Given the description of an element on the screen output the (x, y) to click on. 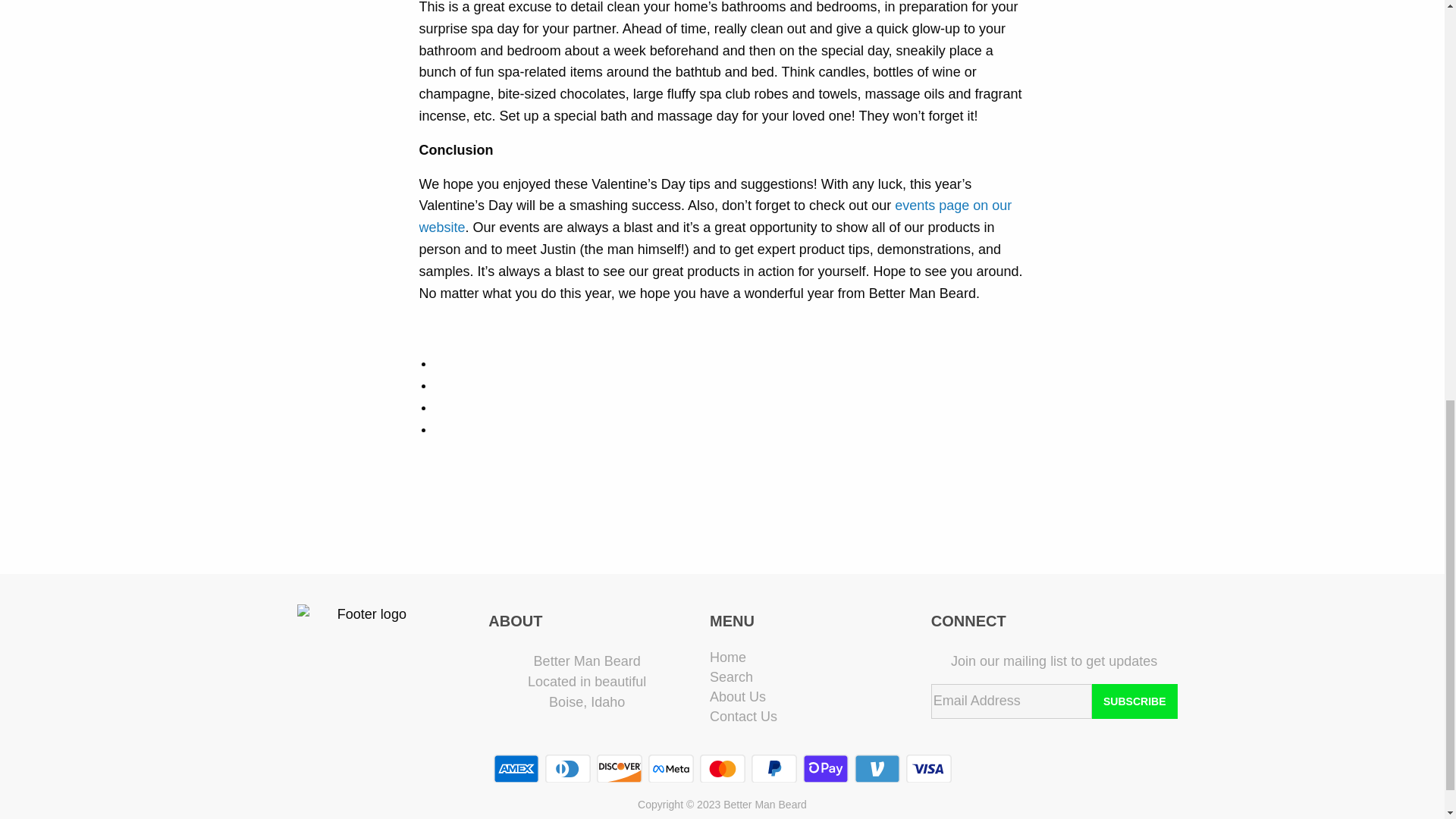
PayPal (773, 768)
Diners Club (566, 768)
Discover (618, 768)
Shop Pay (824, 768)
Visa (927, 768)
Meta Pay (670, 768)
Venmo (876, 768)
Mastercard (721, 768)
American Express (515, 768)
